Given the description of an element on the screen output the (x, y) to click on. 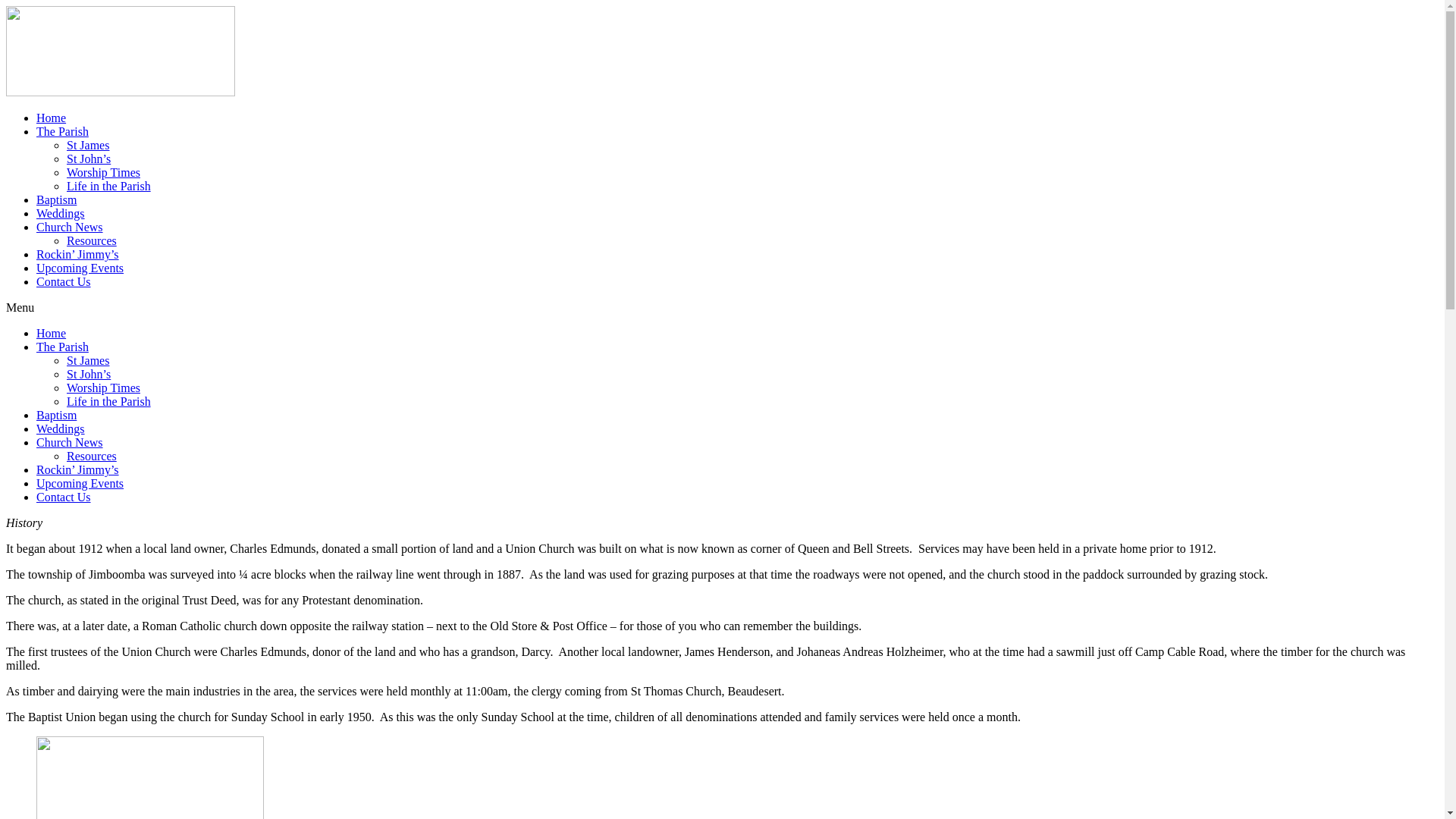
Contact Us Element type: text (63, 281)
Church News Element type: text (69, 226)
Church News Element type: text (69, 442)
Home Element type: text (50, 117)
Worship Times Element type: text (103, 172)
Upcoming Events Element type: text (79, 482)
Life in the Parish Element type: text (108, 401)
St James Element type: text (87, 360)
Resources Element type: text (91, 240)
Baptism Element type: text (56, 199)
The Parish Element type: text (62, 131)
Worship Times Element type: text (103, 387)
Contact Us Element type: text (63, 496)
Upcoming Events Element type: text (79, 267)
Resources Element type: text (91, 455)
Home Element type: text (50, 332)
Weddings Element type: text (60, 428)
Baptism Element type: text (56, 414)
Weddings Element type: text (60, 213)
The Parish Element type: text (62, 346)
St James Element type: text (87, 144)
Life in the Parish Element type: text (108, 185)
